Given the description of an element on the screen output the (x, y) to click on. 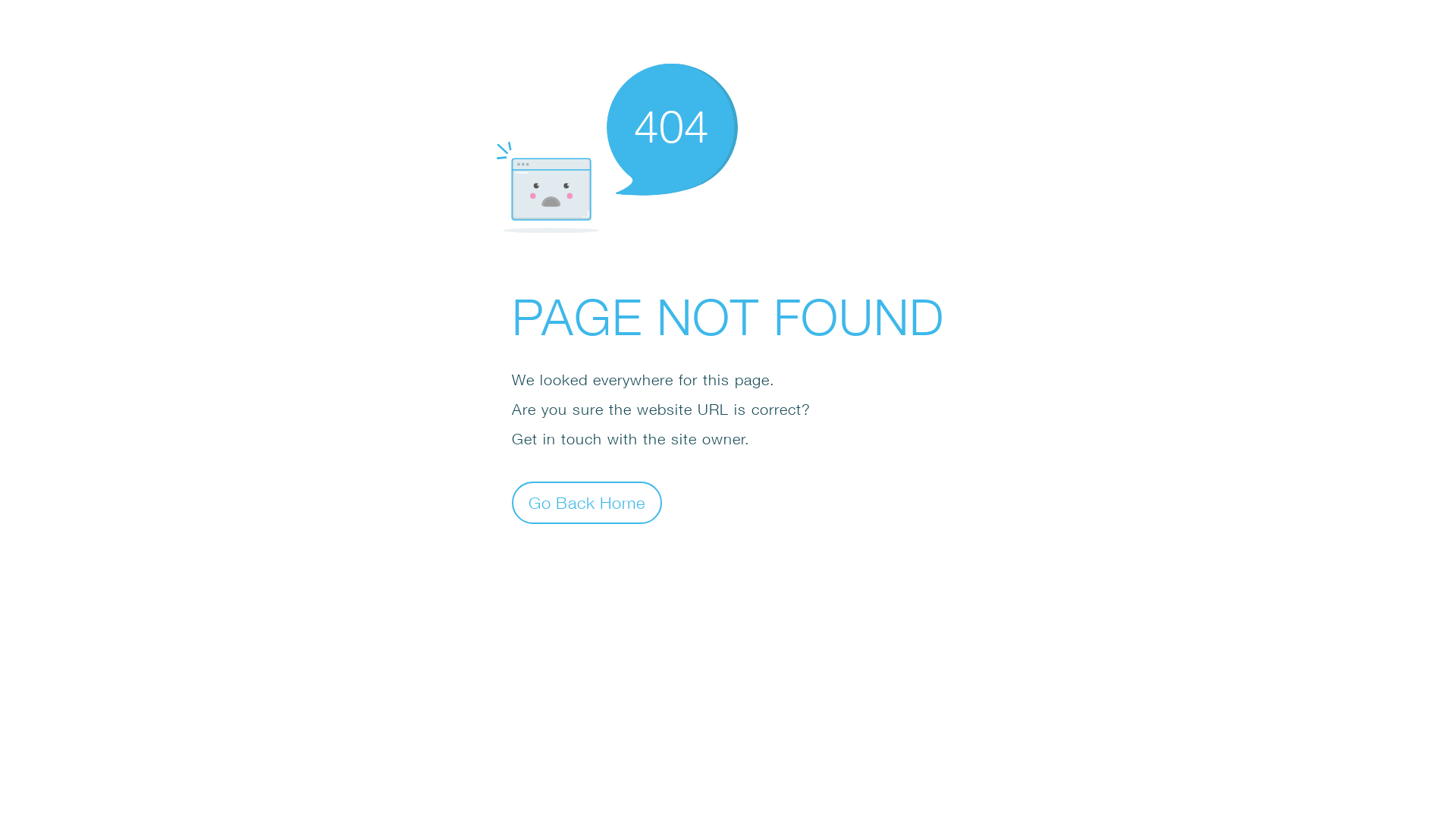
Go Back Home Element type: text (586, 502)
